Given the description of an element on the screen output the (x, y) to click on. 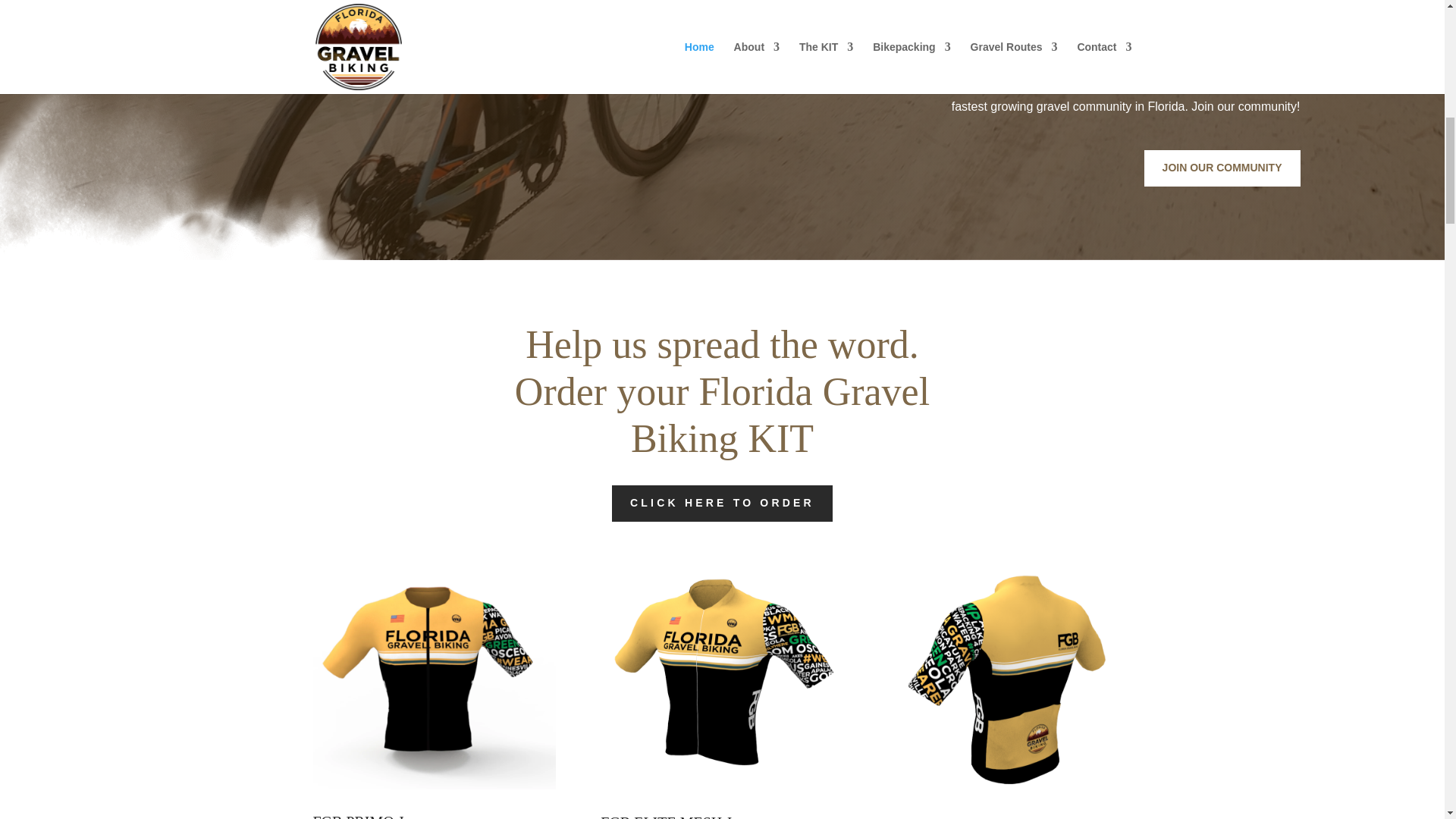
JOIN OUR COMMUNITY (1222, 167)
watercolor-divider-01 (183, 158)
